Given the description of an element on the screen output the (x, y) to click on. 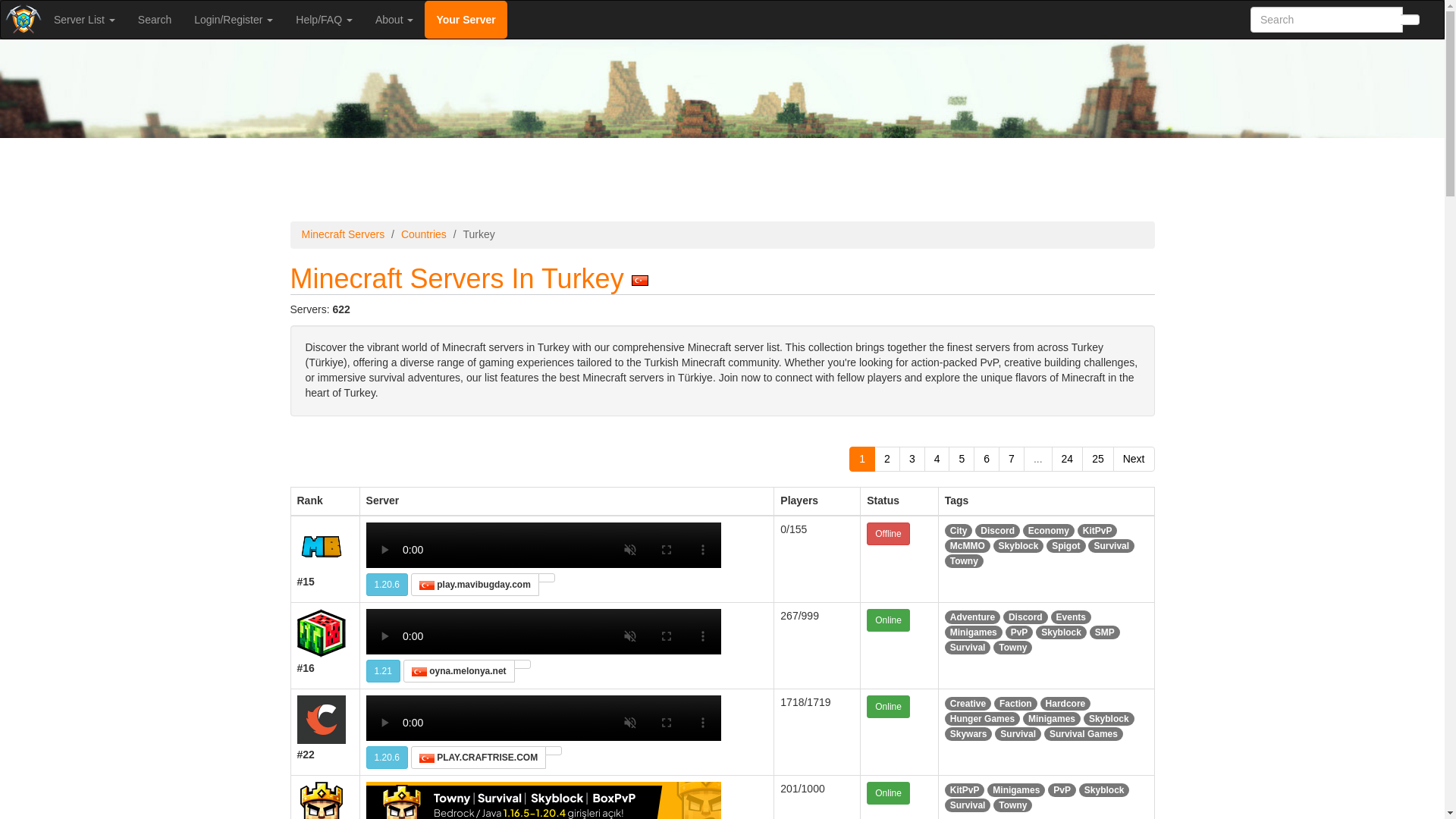
Minecraft Servers (343, 234)
About (394, 19)
Turkey (419, 671)
Your Server (465, 19)
Minecraft 1.21 Servers (383, 671)
Click to copy the server address. (546, 577)
Search (154, 19)
Minecraft Server List (21, 19)
Turkey (426, 584)
Countries (423, 234)
Click to copy the server address. (522, 664)
Minecraft 1.20.6 Servers (386, 757)
Melonya Network - Skyblock, Survival, Towny (321, 633)
Turkey (639, 280)
Minecraft 1.20.6 Servers (386, 584)
